Given the description of an element on the screen output the (x, y) to click on. 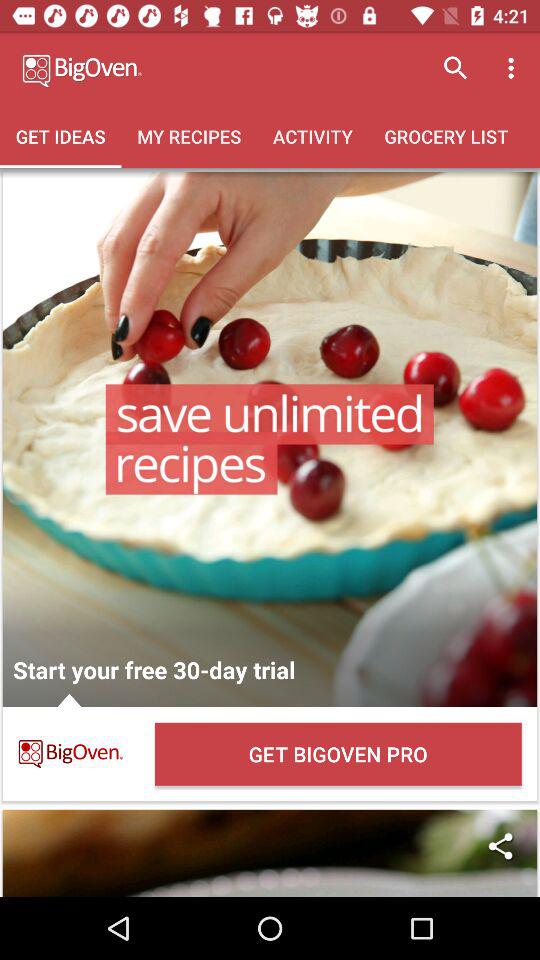
flip until get bigoven pro (337, 753)
